Given the description of an element on the screen output the (x, y) to click on. 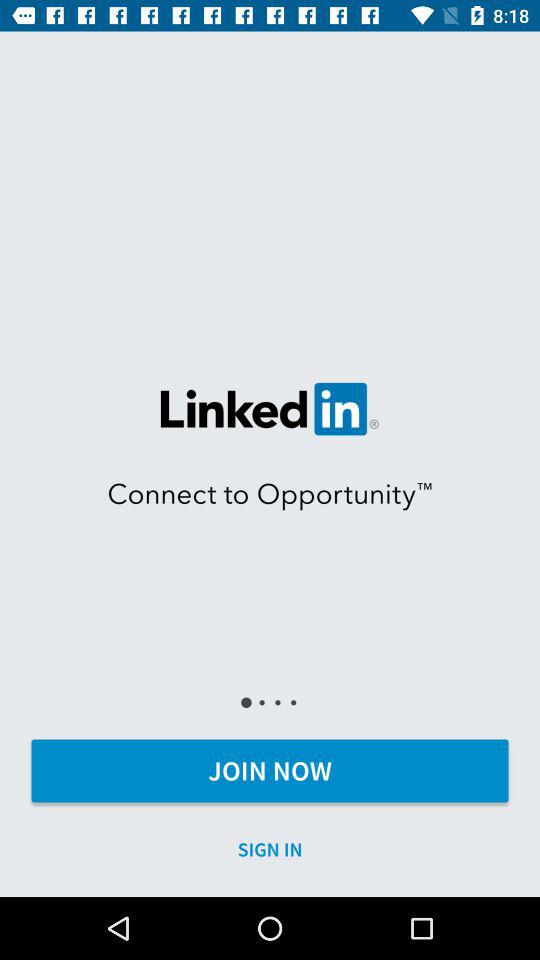
flip to join now item (269, 770)
